Given the description of an element on the screen output the (x, y) to click on. 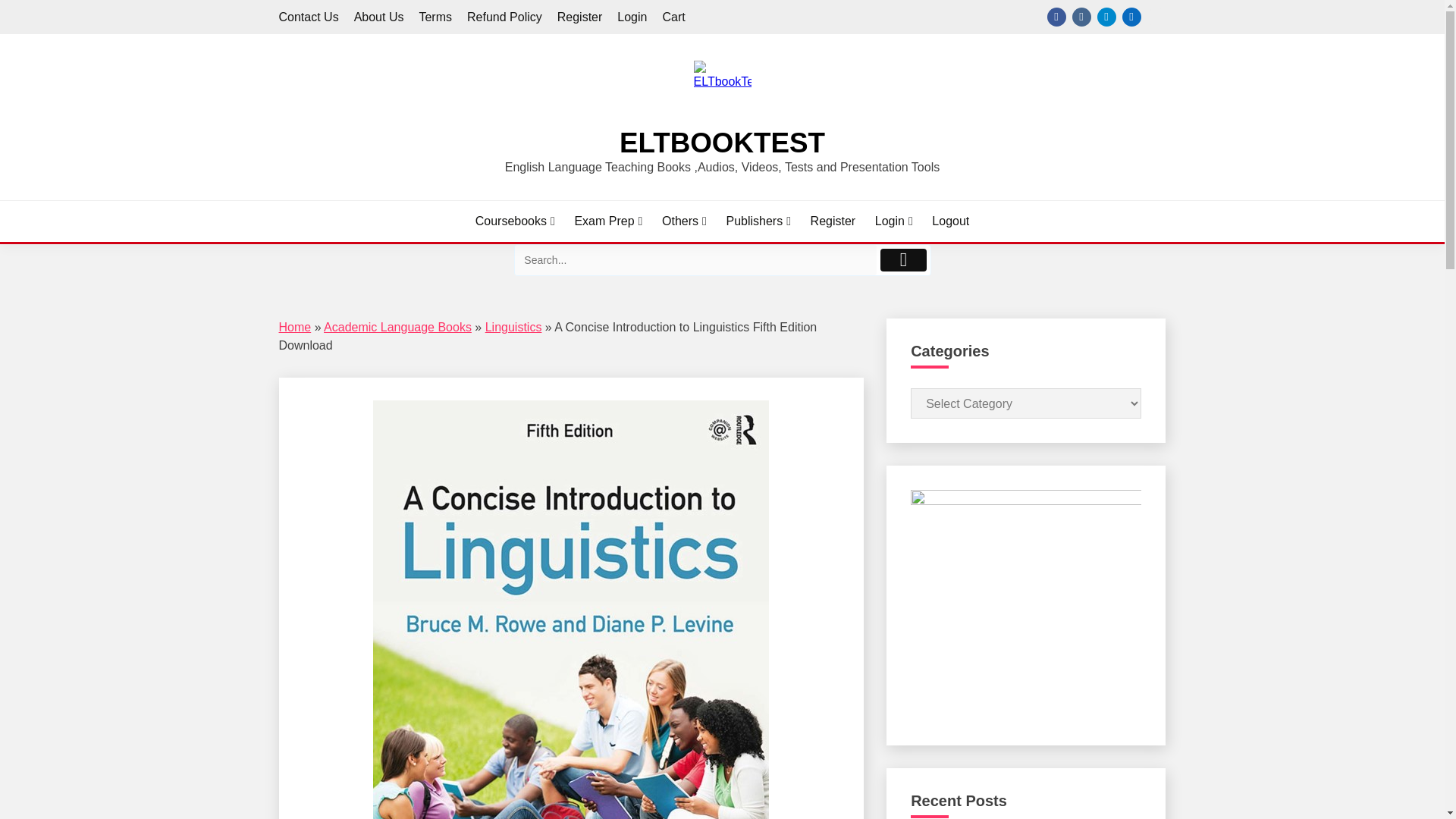
Refund Policy (504, 16)
Facebook (1055, 16)
Contact Us (309, 16)
ELTBOOKTEST (722, 142)
Exam Prep (607, 221)
telegram (1105, 16)
WhatsApp (1156, 16)
Login (631, 16)
VK (1080, 16)
Search (694, 259)
Email (1131, 16)
Terms (435, 16)
Others (684, 221)
Publishers (757, 221)
Cart (673, 16)
